Given the description of an element on the screen output the (x, y) to click on. 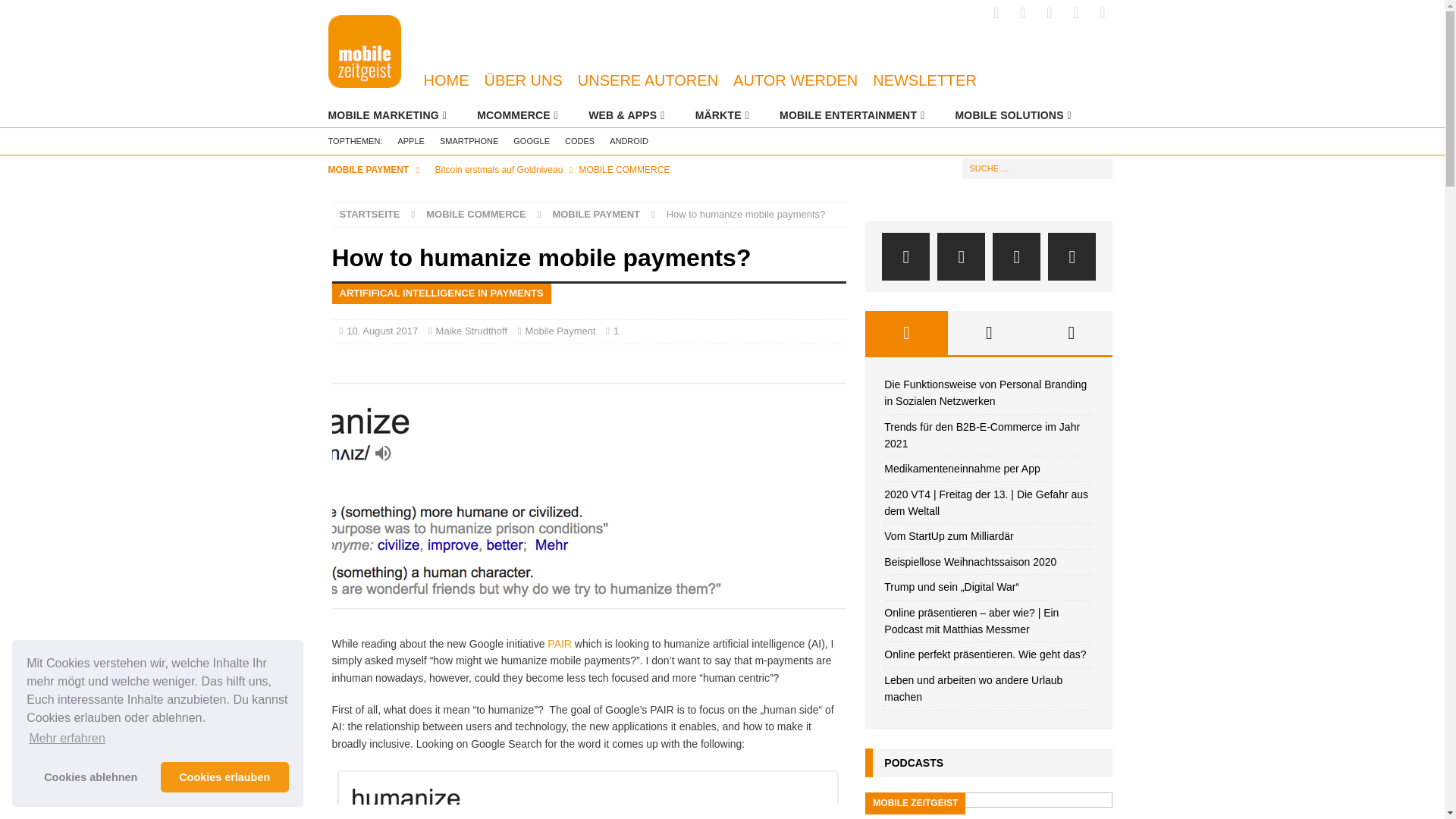
HOME (445, 79)
Abonniere unseren YT Channel (1102, 13)
Folge uns auf Twitter (1023, 13)
NEWSLETTER (924, 79)
Mundschutz killt Apple Face ID und Apple Pay (636, 195)
Cookies ablehnen (90, 777)
Bitcoin erstmals auf Goldniveau (636, 169)
Folge uns auf Pinterest (1075, 13)
UNSERE AUTOREN (647, 79)
AUTOR WERDEN (794, 79)
Like uns auf Facebook (995, 13)
Cookies erlauben (224, 777)
Mehr erfahren (66, 738)
